Given the description of an element on the screen output the (x, y) to click on. 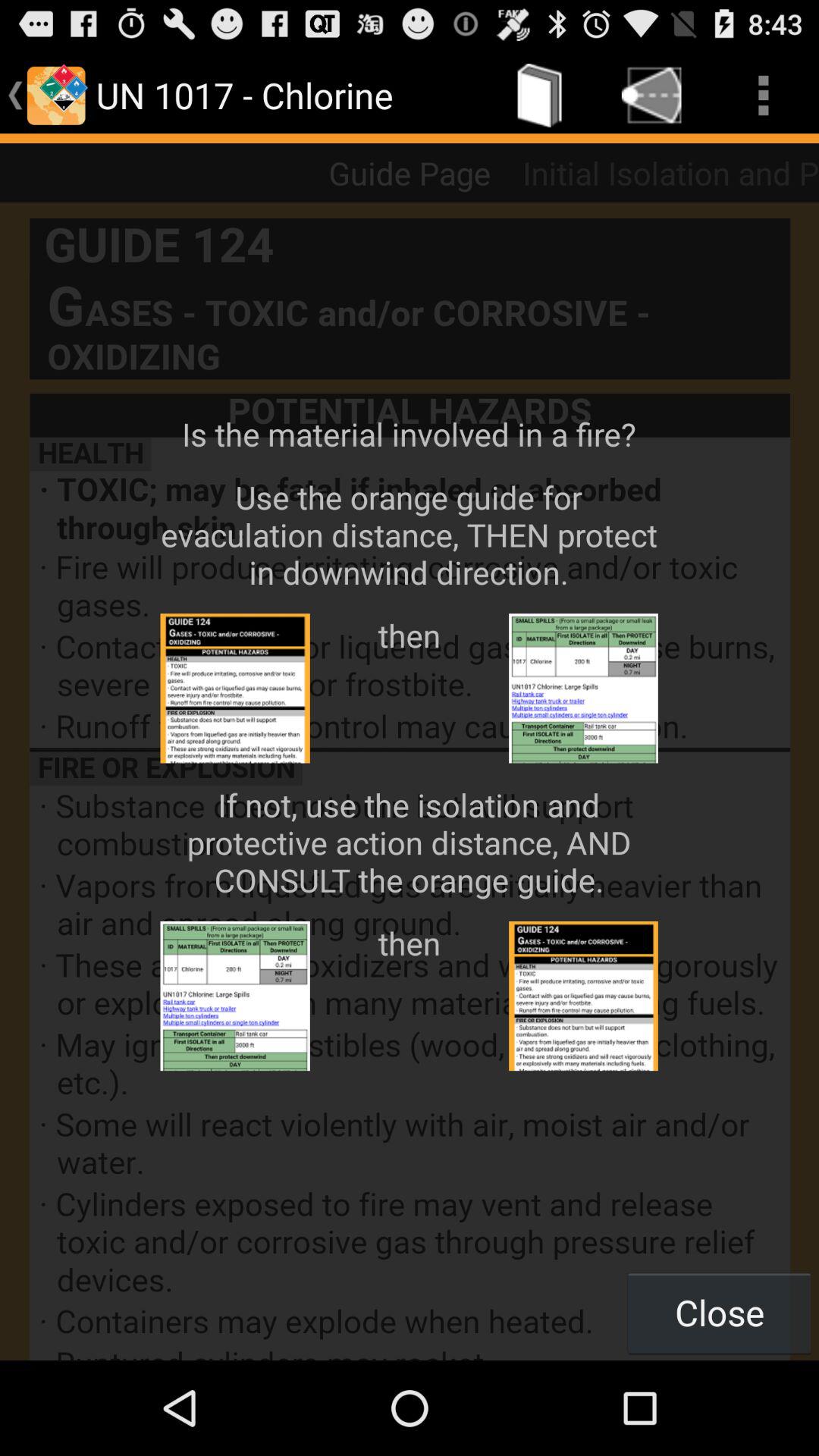
full page (409, 781)
